Given the description of an element on the screen output the (x, y) to click on. 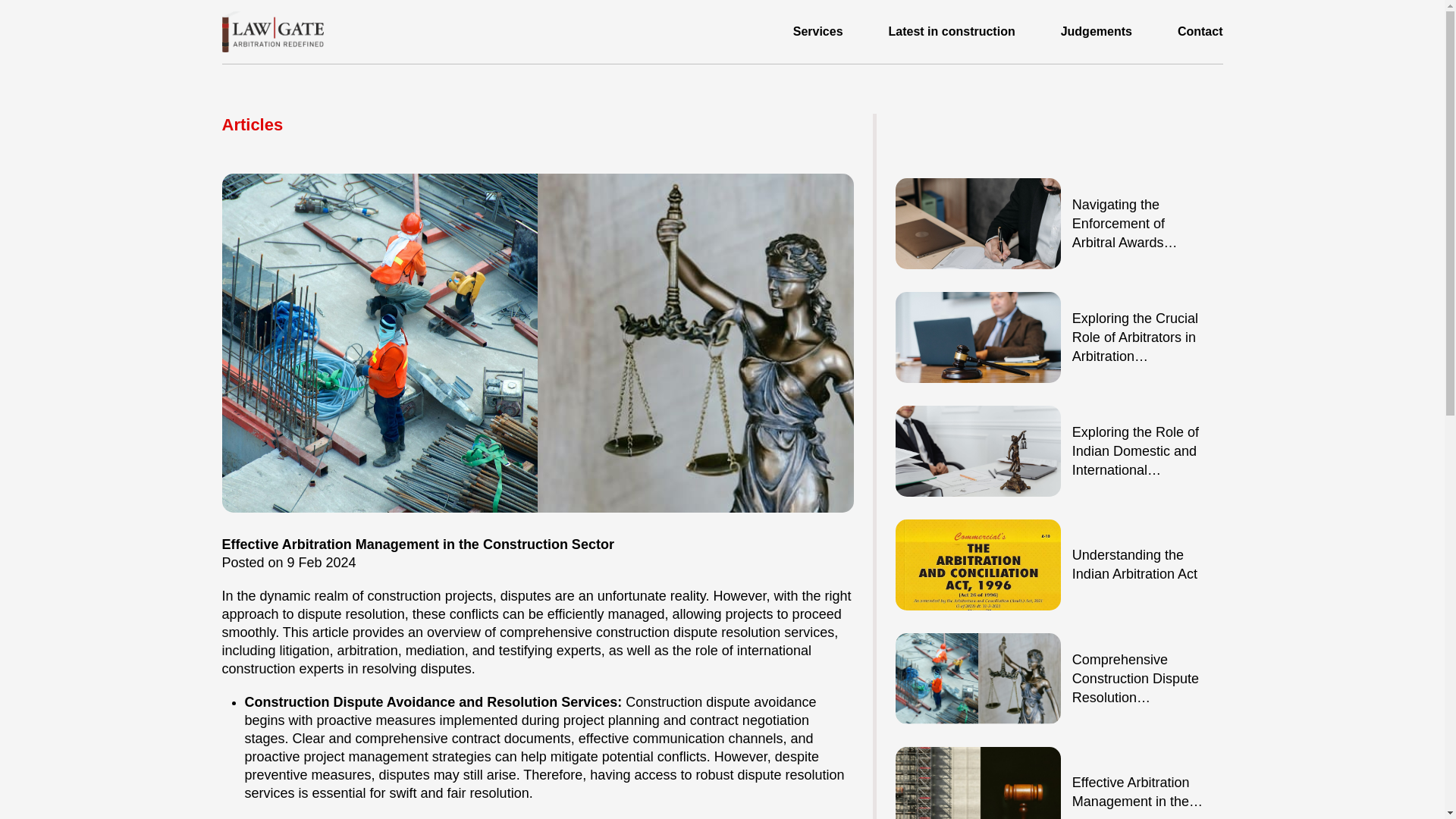
Understanding the Indian Arbitration Act (1133, 564)
Contact (1200, 31)
Understanding the Indian Arbitration Act (1133, 564)
Latest in construction (951, 31)
Services (818, 31)
Judgements (1096, 31)
